Given the description of an element on the screen output the (x, y) to click on. 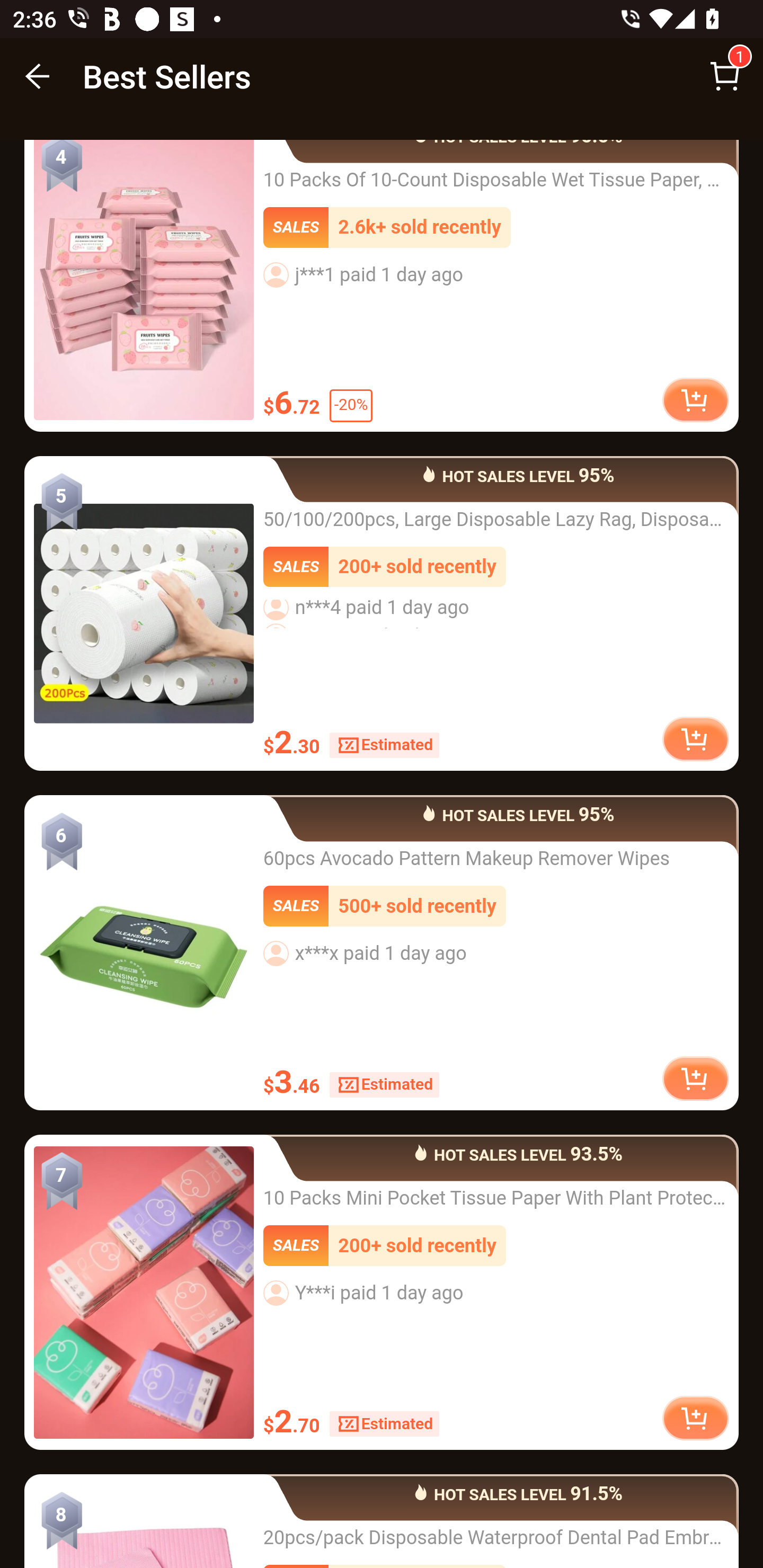
BACK (38, 75)
Cart 1 (724, 75)
add to cart (695, 400)
add to cart (695, 739)
60pcs Avocado Pattern Makeup Remover Wipes (143, 953)
add to cart (695, 1079)
add to cart (695, 1417)
